Given the description of an element on the screen output the (x, y) to click on. 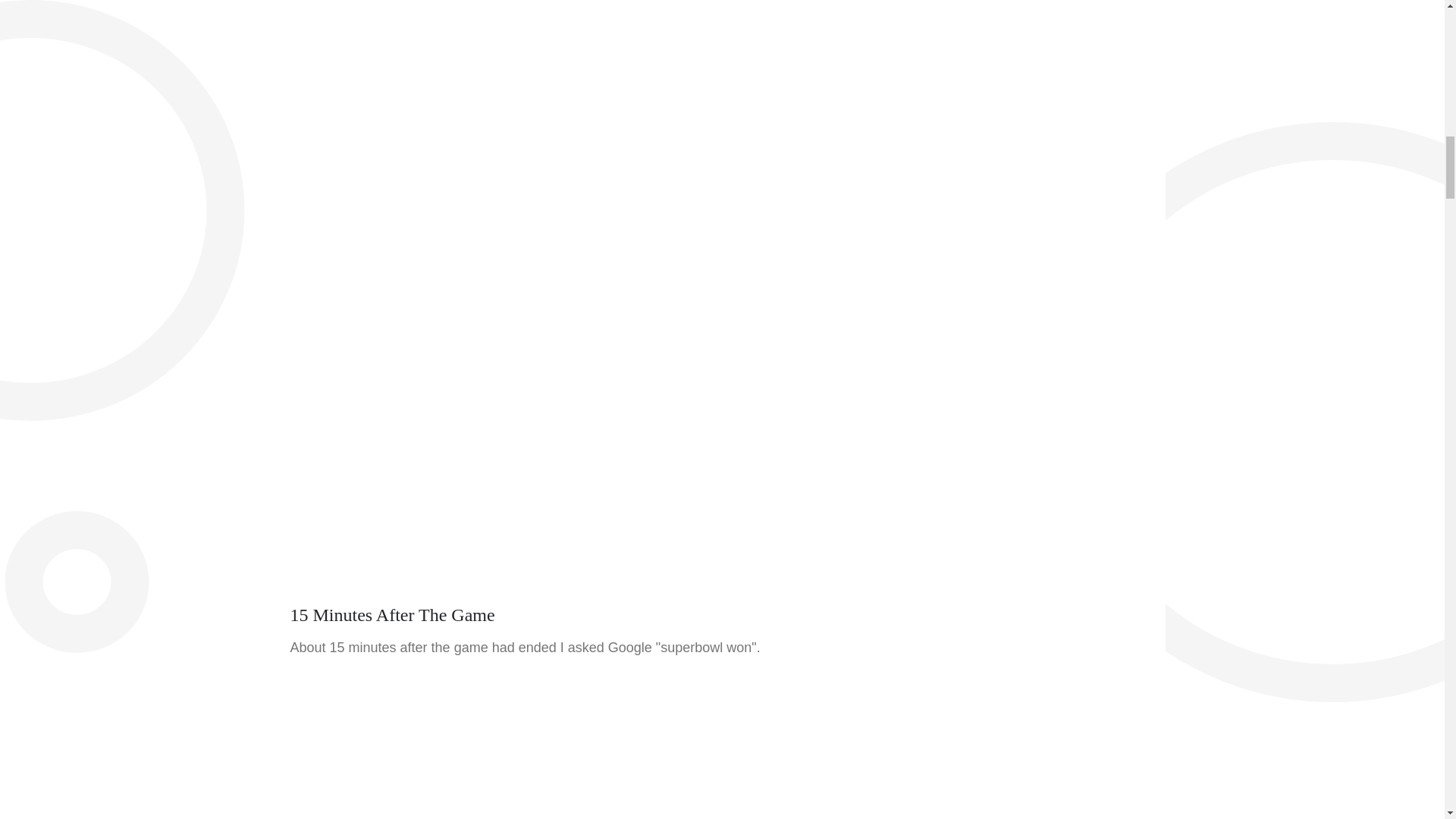
superbowl won 2012-02-05 21-56-22 (531, 744)
image (573, 31)
